Given the description of an element on the screen output the (x, y) to click on. 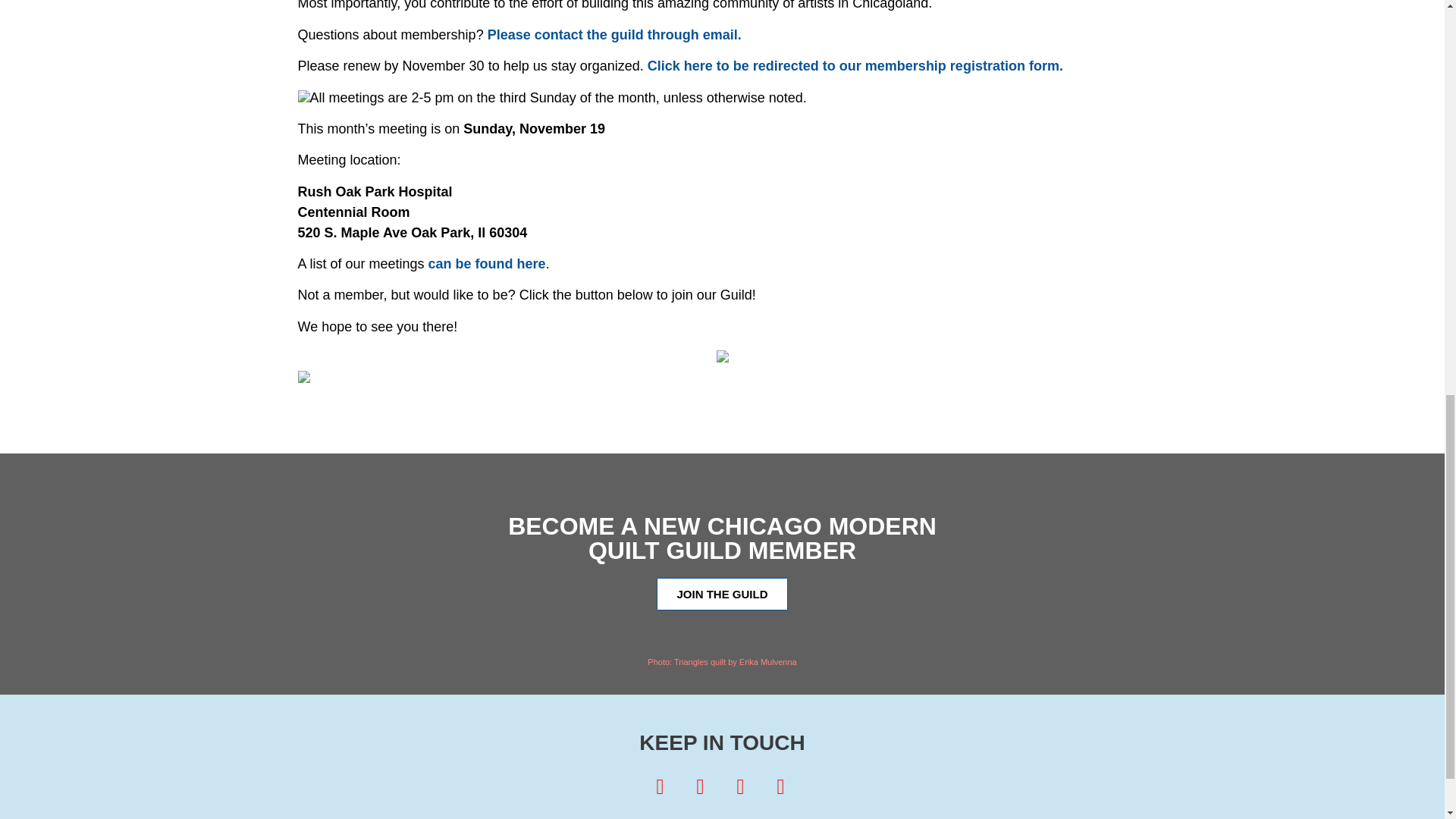
JOIN THE GUILD (721, 594)
can be found here (487, 263)
Please contact the guild through email. (614, 34)
